Given the description of an element on the screen output the (x, y) to click on. 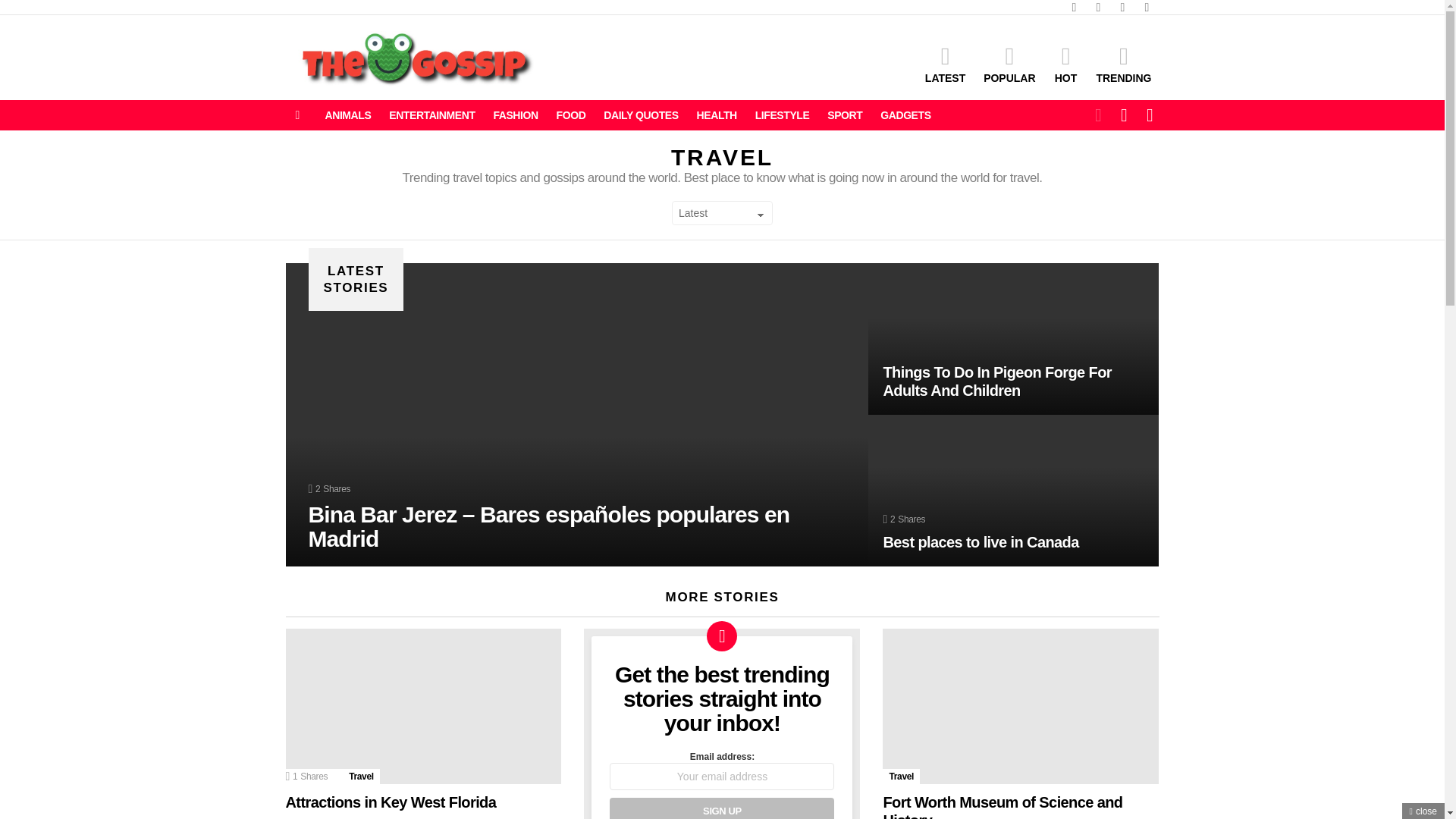
twitter (1097, 7)
DAILY QUOTES (640, 115)
HOT (1064, 64)
facebook (1073, 7)
Best places to live in Canada (1012, 490)
ENTERTAINMENT (431, 115)
Attractions in Key West Florida (422, 705)
LATEST (944, 64)
FASHION (514, 115)
ANIMALS (347, 115)
Best places to live in Canada (980, 541)
Travel (361, 776)
instagram (1121, 7)
Things To Do In Pigeon Forge For Adults And Children (997, 380)
Attractions in Key West Florida (390, 801)
